Given the description of an element on the screen output the (x, y) to click on. 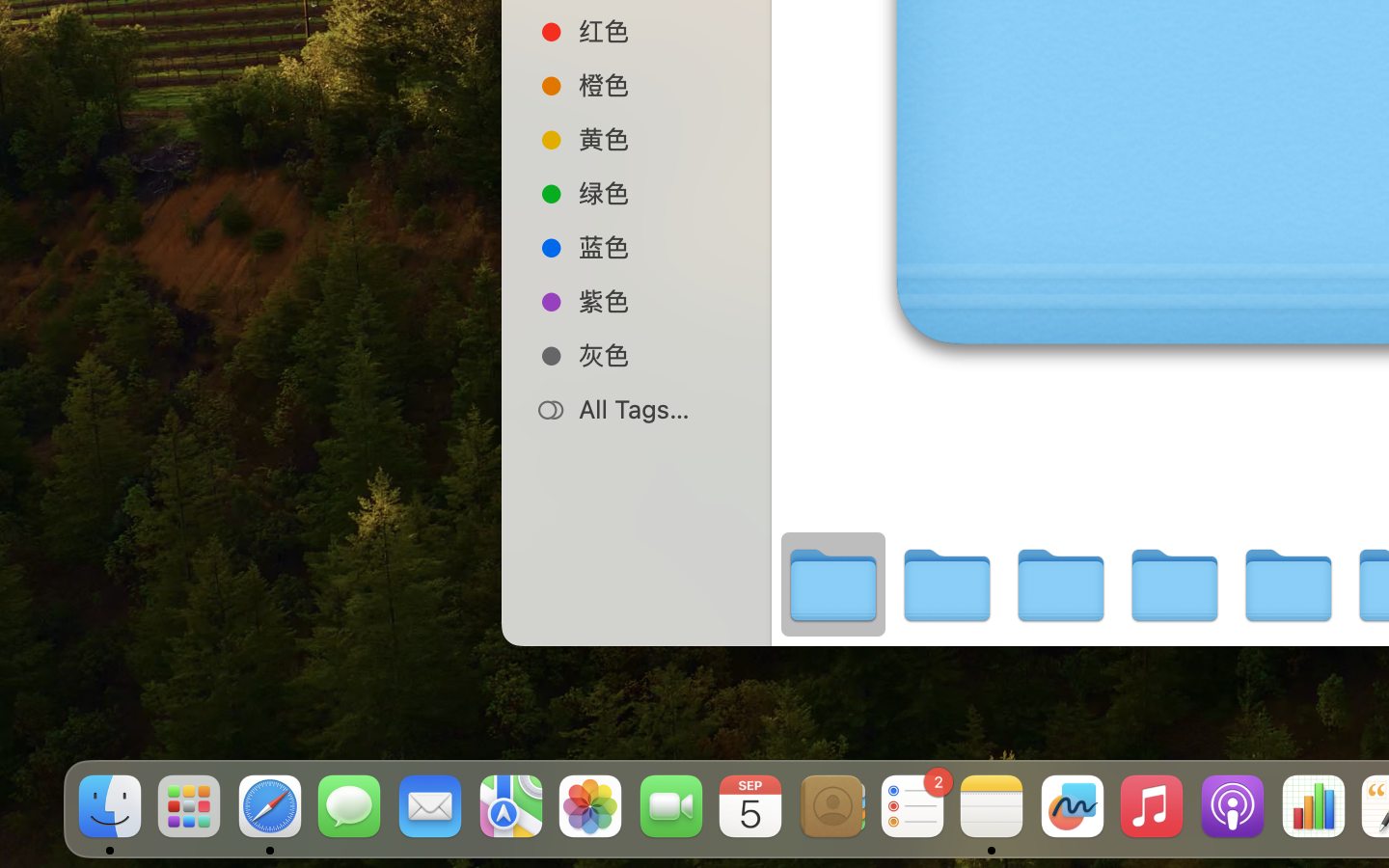
绿色 Element type: AXStaticText (656, 192)
蓝色 Element type: AXStaticText (656, 246)
橙色 Element type: AXStaticText (656, 84)
